Given the description of an element on the screen output the (x, y) to click on. 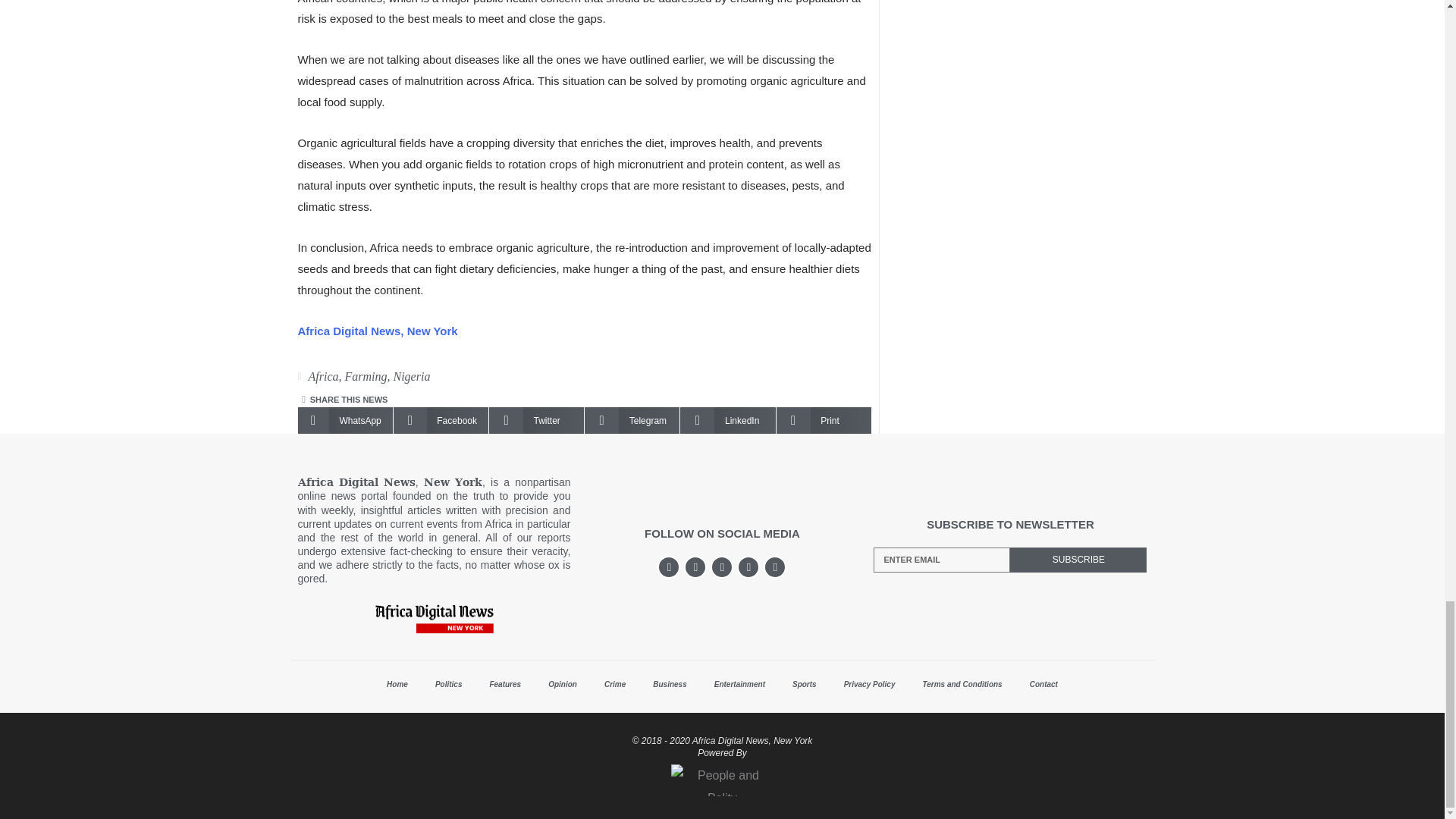
Africa Digital News, New York (377, 330)
Africa (322, 376)
Nigeria (411, 376)
Farming (365, 376)
